Given the description of an element on the screen output the (x, y) to click on. 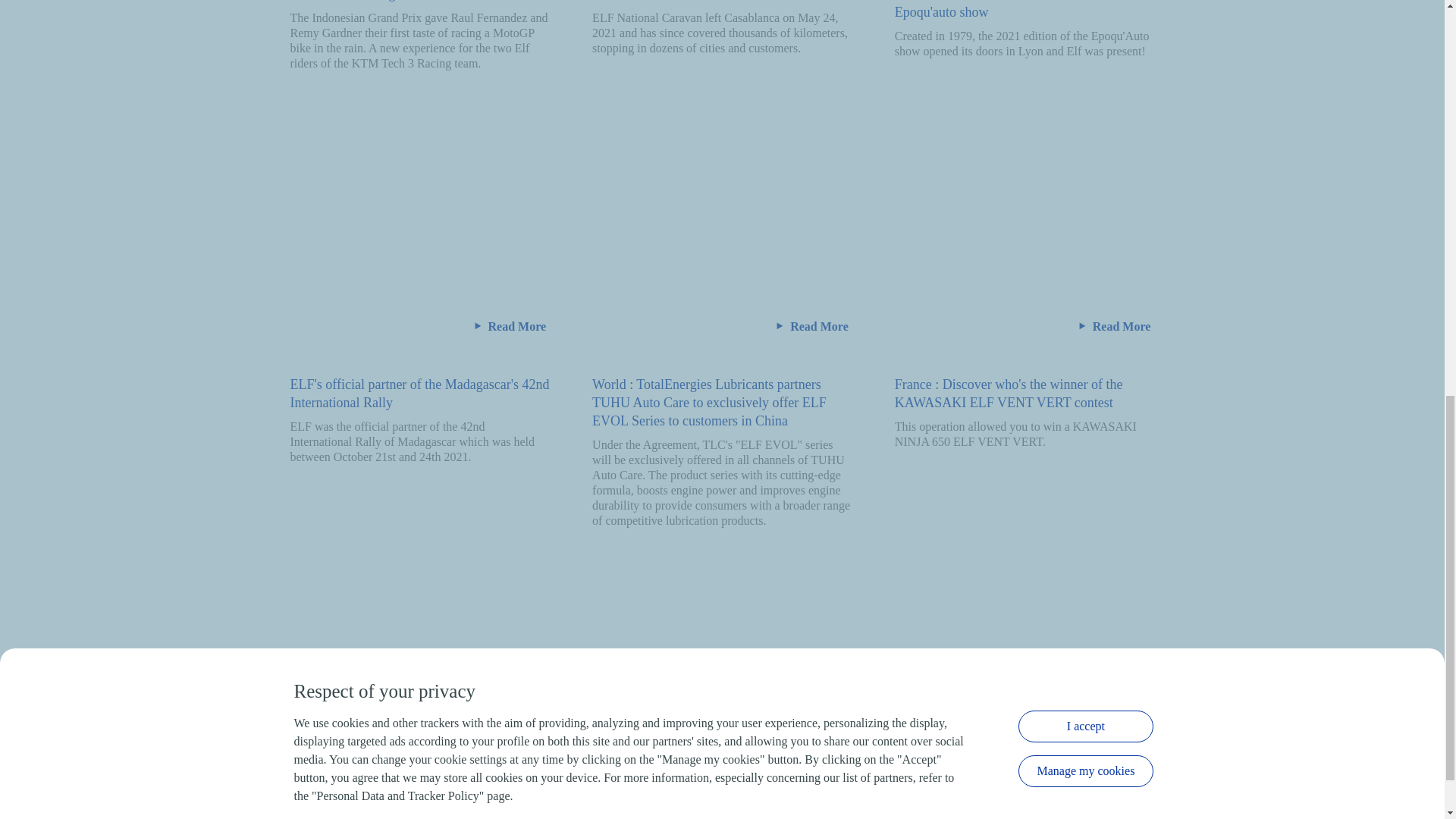
Go to page 3 (958, 802)
Go to page 6 (1072, 802)
Go to page 2 (919, 802)
Go to page 5 (1034, 802)
Go to page 4 (996, 802)
